Given the description of an element on the screen output the (x, y) to click on. 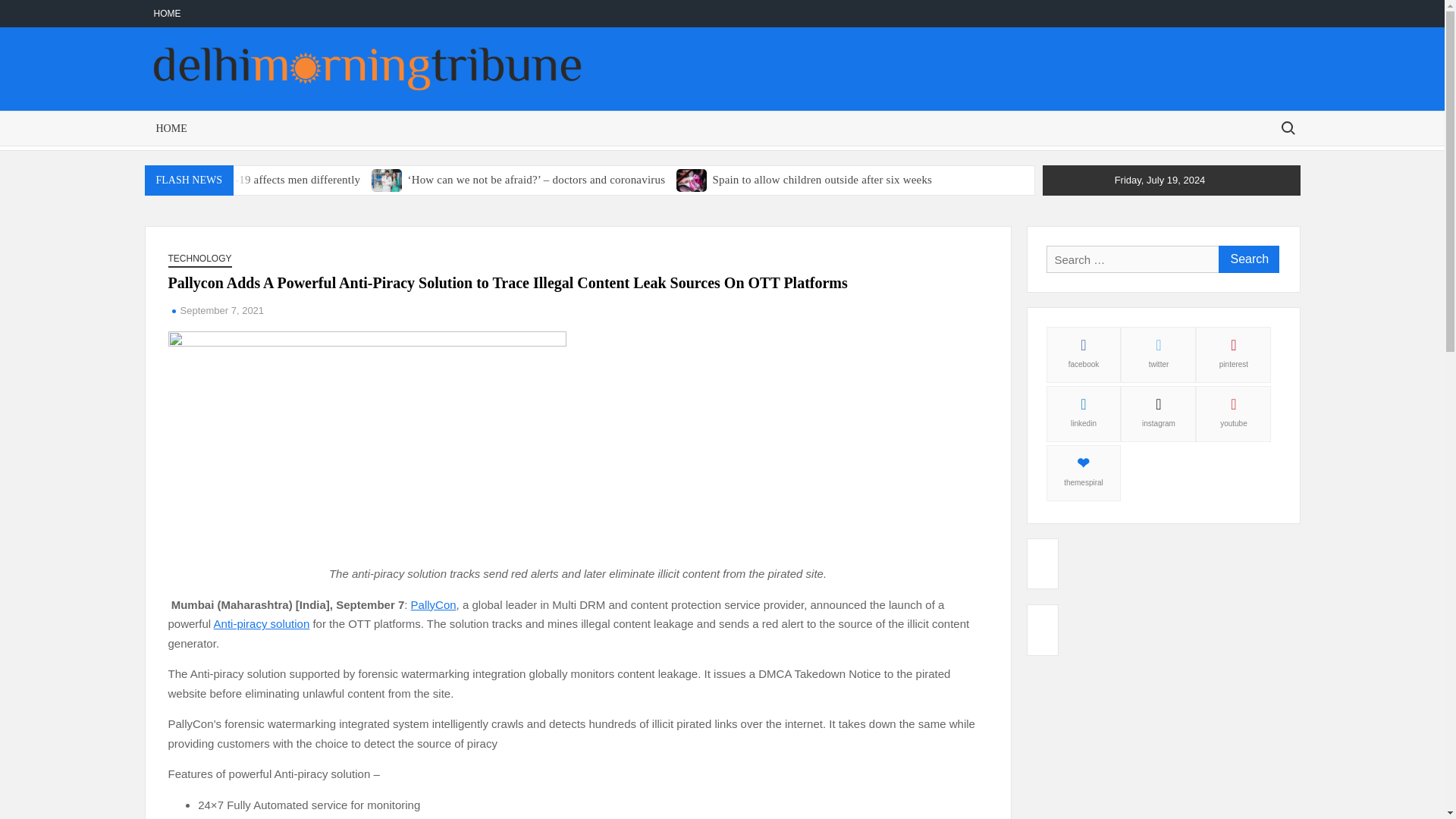
DELHI MORNING TRIBUNE (673, 125)
How Covid-19 affects men differently (161, 178)
twitter (1158, 354)
PallyCon (433, 604)
Spain to allow children outside after six weeks (821, 179)
Search (1247, 258)
Anti-piracy solution (262, 623)
Search (1247, 258)
linkedin (1083, 413)
How Covid-19 affects men differently (270, 179)
HOME (166, 13)
pinterest (1233, 354)
Search (1247, 258)
Spain to allow children outside after six weeks (693, 178)
themespiral (1083, 473)
